Given the description of an element on the screen output the (x, y) to click on. 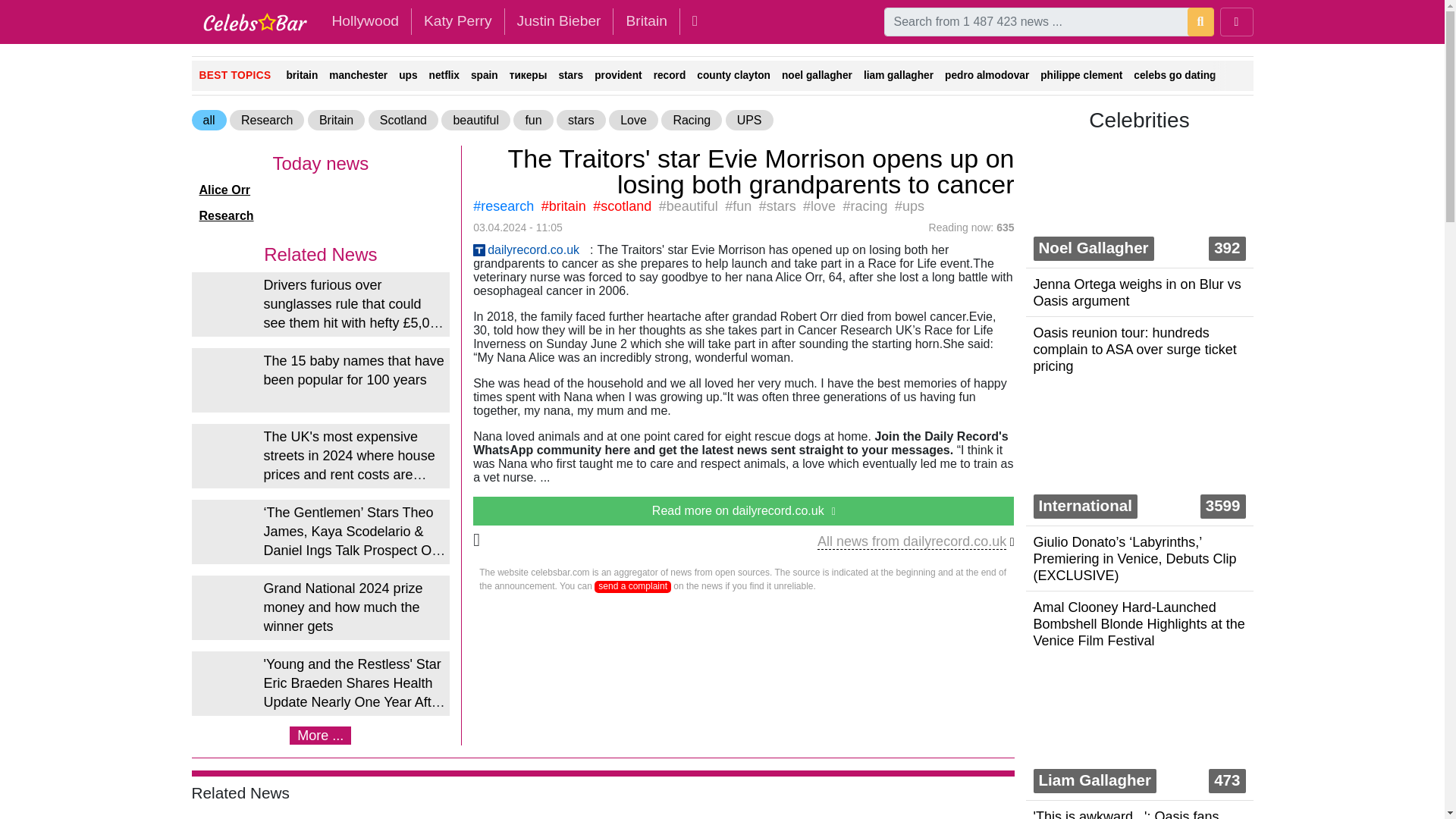
Justin Bieber (558, 21)
Justin Bieber (558, 21)
Katy Perry (457, 21)
Hollywood (364, 21)
Britain (645, 21)
Katy Perry (457, 21)
Britain (645, 21)
Hollywood (364, 21)
